Given the description of an element on the screen output the (x, y) to click on. 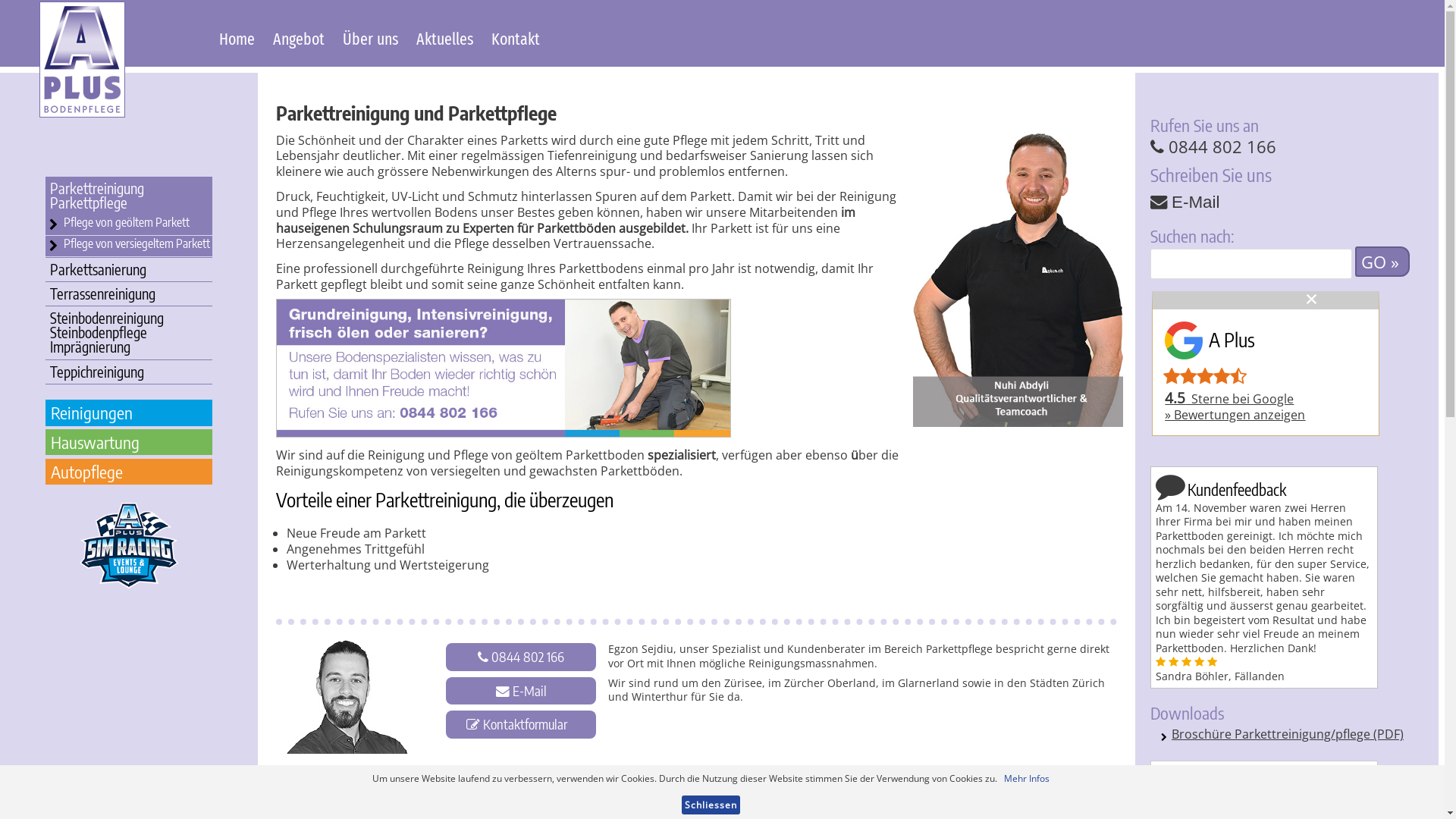
E-Mail Element type: text (529, 691)
Kontakt Element type: text (515, 40)
Pflege von versiegeltem Parkett Element type: text (136, 243)
0844 802 166 Element type: text (1213, 146)
Teppichreinigung Element type: text (128, 370)
Hauswartung Element type: text (128, 442)
Parkettreinigung
Parkettpflege Element type: text (128, 195)
Terrassenreinigung Element type: text (128, 293)
Kontaktformular Element type: text (524, 724)
Autopflege Element type: text (128, 471)
0844 802 166 Element type: text (527, 657)
A Plus Sim Racing Events & Lounge Element type: hover (128, 545)
Angebot Element type: text (298, 40)
E-Mail Element type: text (1195, 201)
Home Element type: text (236, 40)
Aktuelles Element type: text (444, 40)
Reinigungen Element type: text (128, 412)
Schliessen Element type: text (710, 804)
Mehr Infos Element type: text (1026, 777)
Parkettsanierung Element type: text (128, 269)
